Given the description of an element on the screen output the (x, y) to click on. 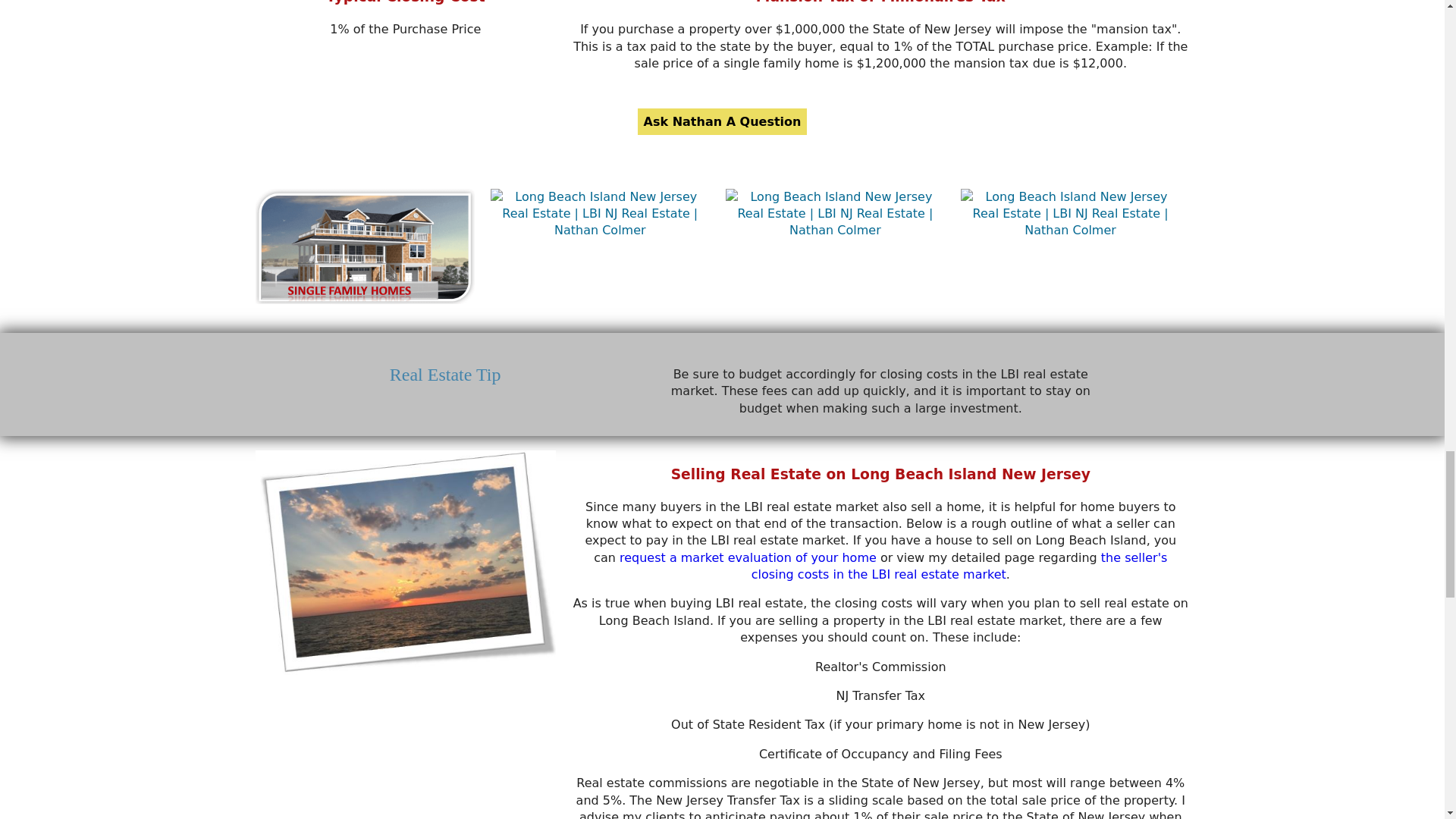
Ask Nathan A Question (722, 121)
the seller's closing costs in the LBI real estate market (959, 565)
request a market evaluation of your home (748, 557)
